Given the description of an element on the screen output the (x, y) to click on. 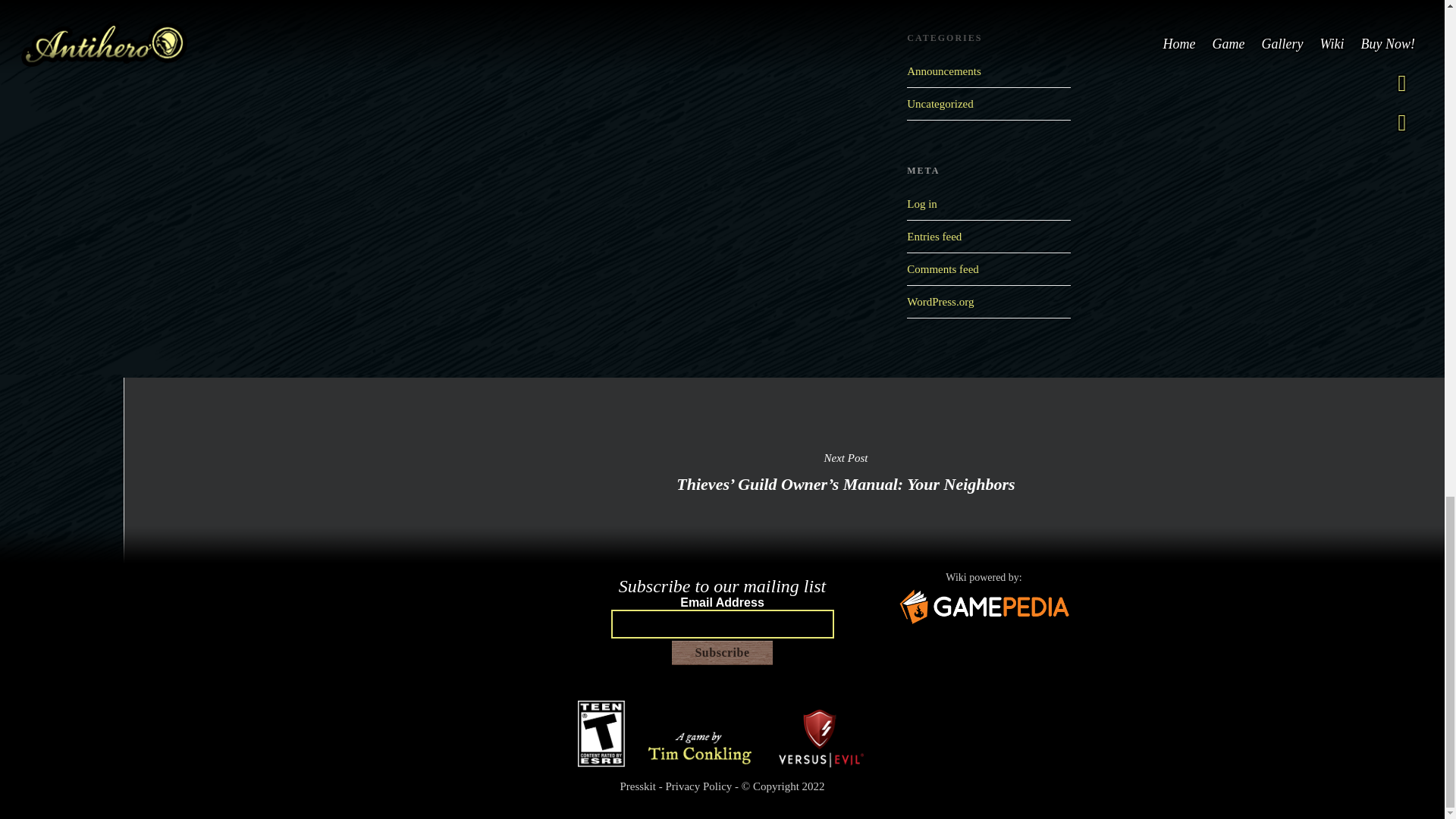
Subscribe (721, 652)
